Given the description of an element on the screen output the (x, y) to click on. 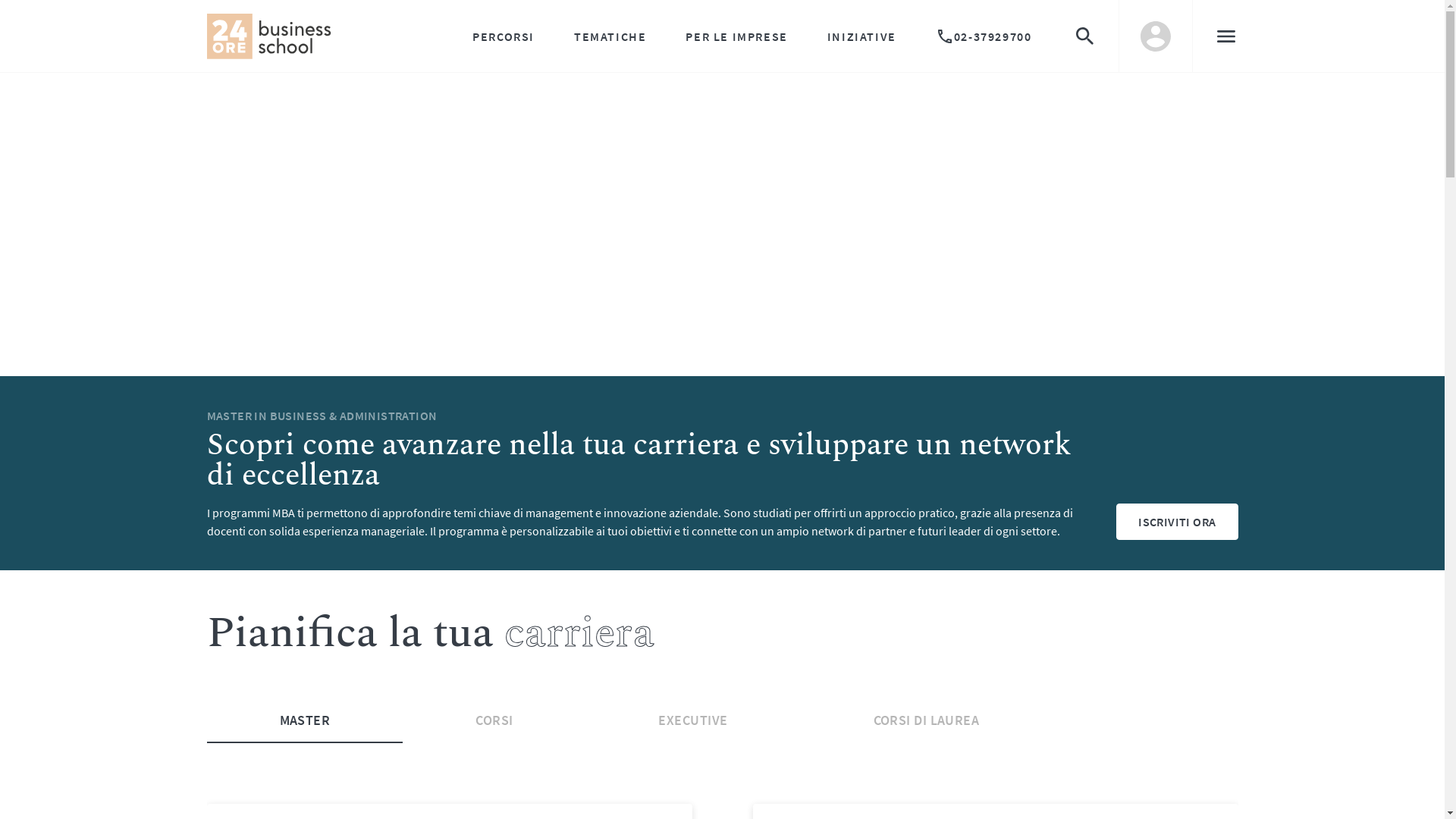
CORSI Element type: text (493, 720)
INIZIATIVE Element type: text (861, 36)
TEMATICHE Element type: text (609, 36)
MASTER Element type: text (304, 720)
CORSI DI LAUREA Element type: text (926, 720)
EXECUTIVE Element type: text (692, 720)
PER LE IMPRESE Element type: text (736, 36)
ISCRIVITI ORA Element type: text (1176, 521)
PERCORSI Element type: text (503, 36)
02-37929700 Element type: text (983, 36)
